Given the description of an element on the screen output the (x, y) to click on. 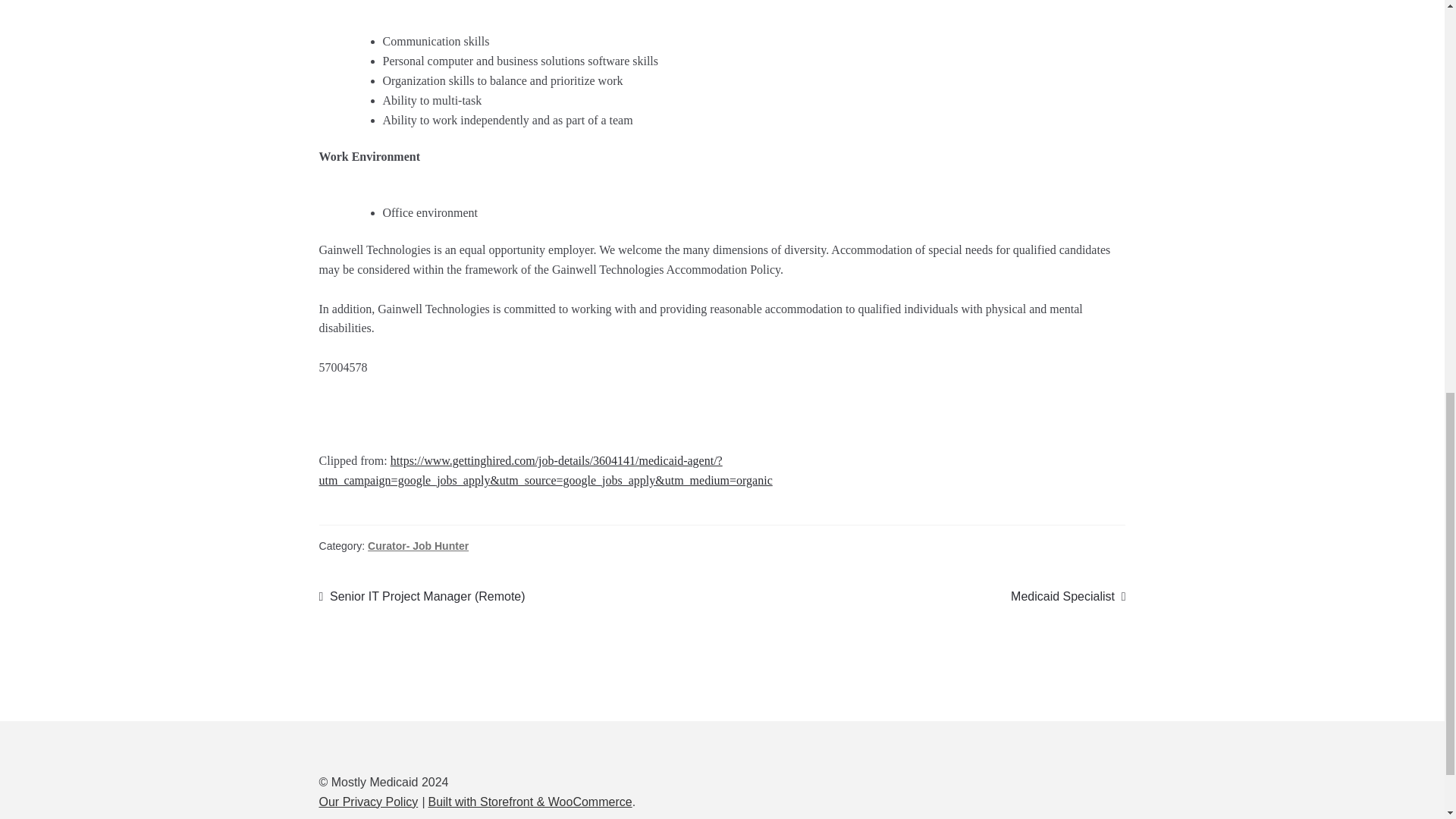
WooCommerce - The Best eCommerce Platform for WordPress (529, 801)
